Given the description of an element on the screen output the (x, y) to click on. 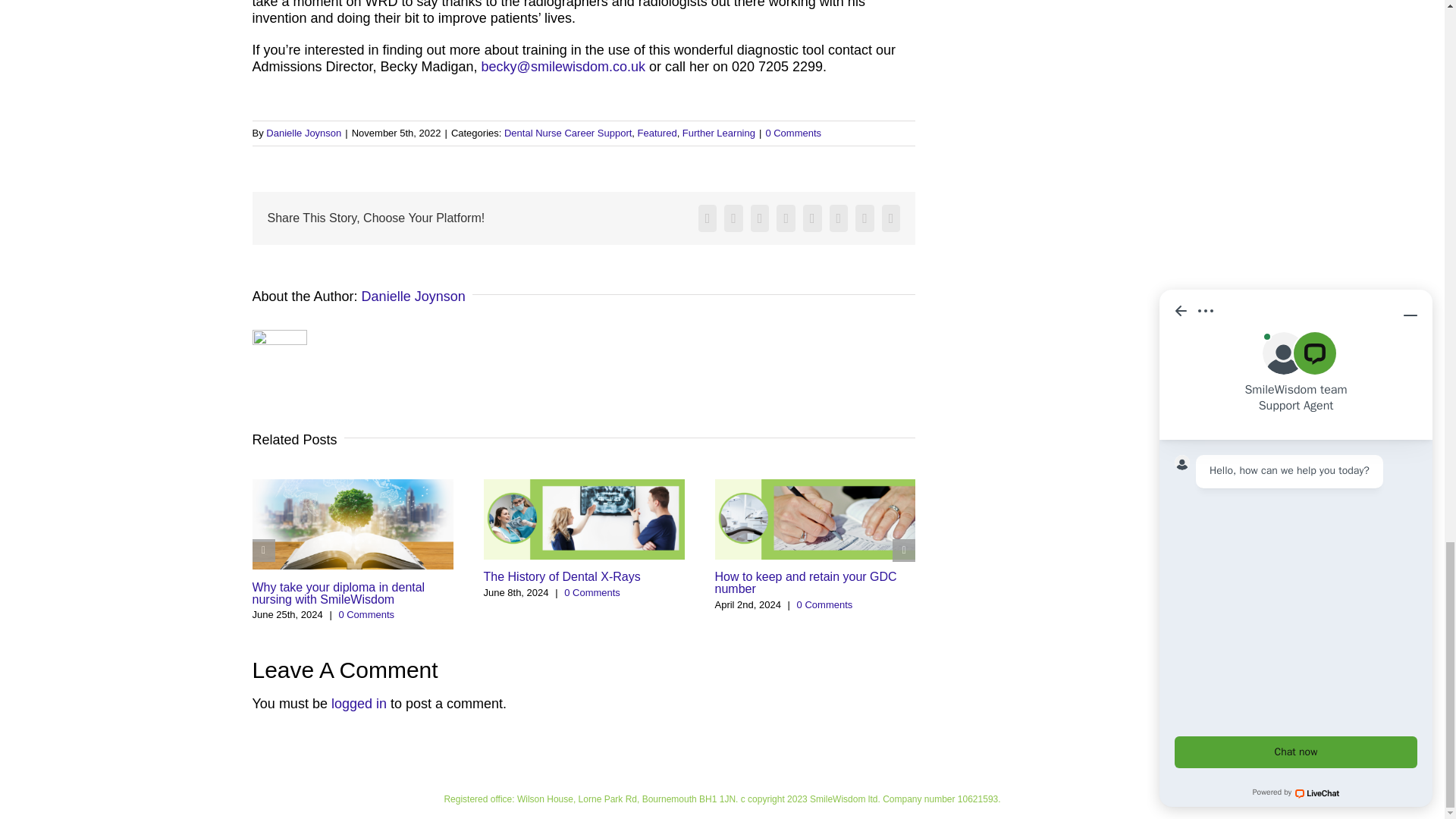
Posts by Danielle Joynson (413, 295)
Why take your diploma in dental nursing with SmileWisdom (338, 593)
Posts by Danielle Joynson (303, 132)
